Given the description of an element on the screen output the (x, y) to click on. 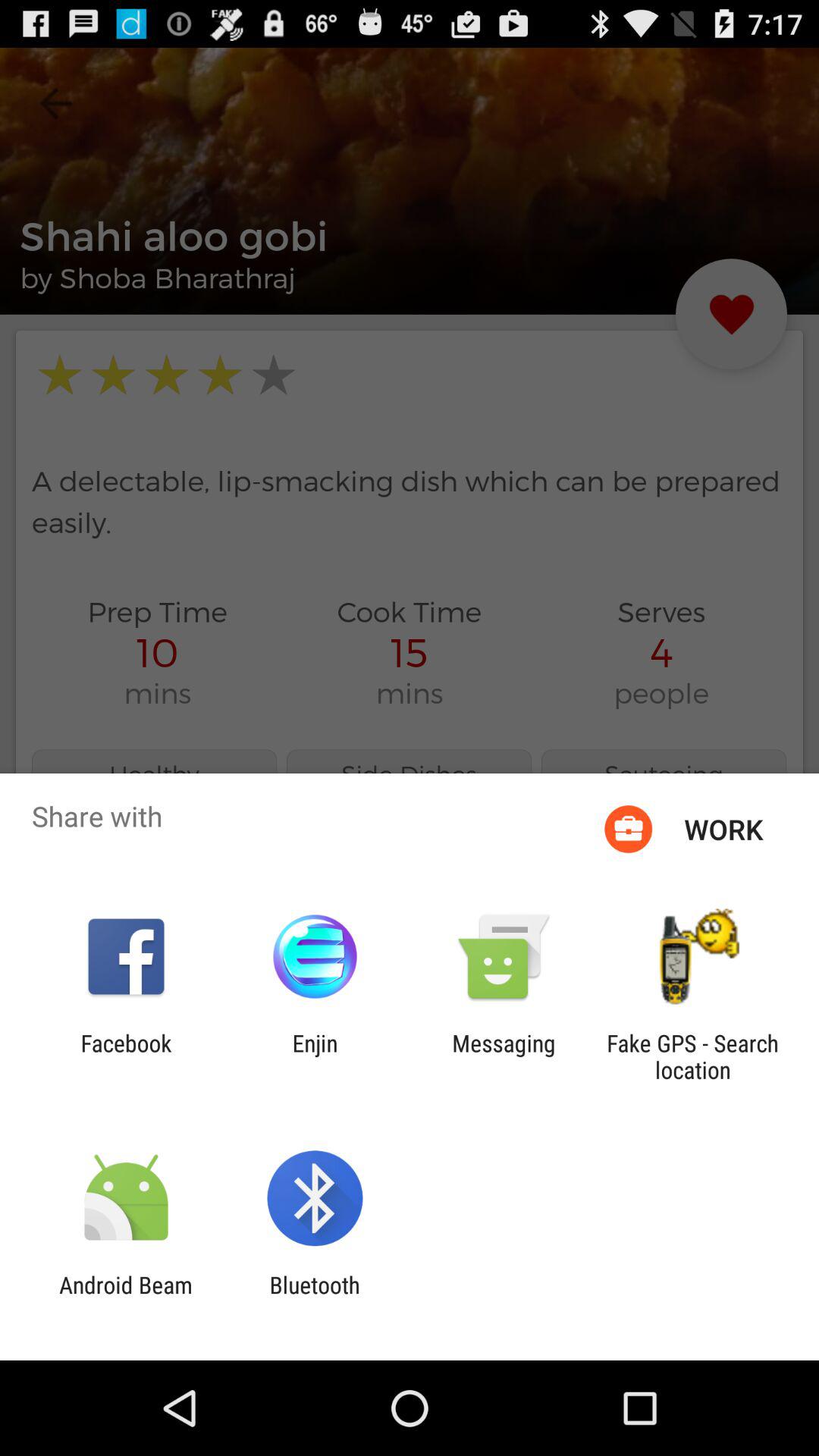
tap app next to the facebook (314, 1056)
